Given the description of an element on the screen output the (x, y) to click on. 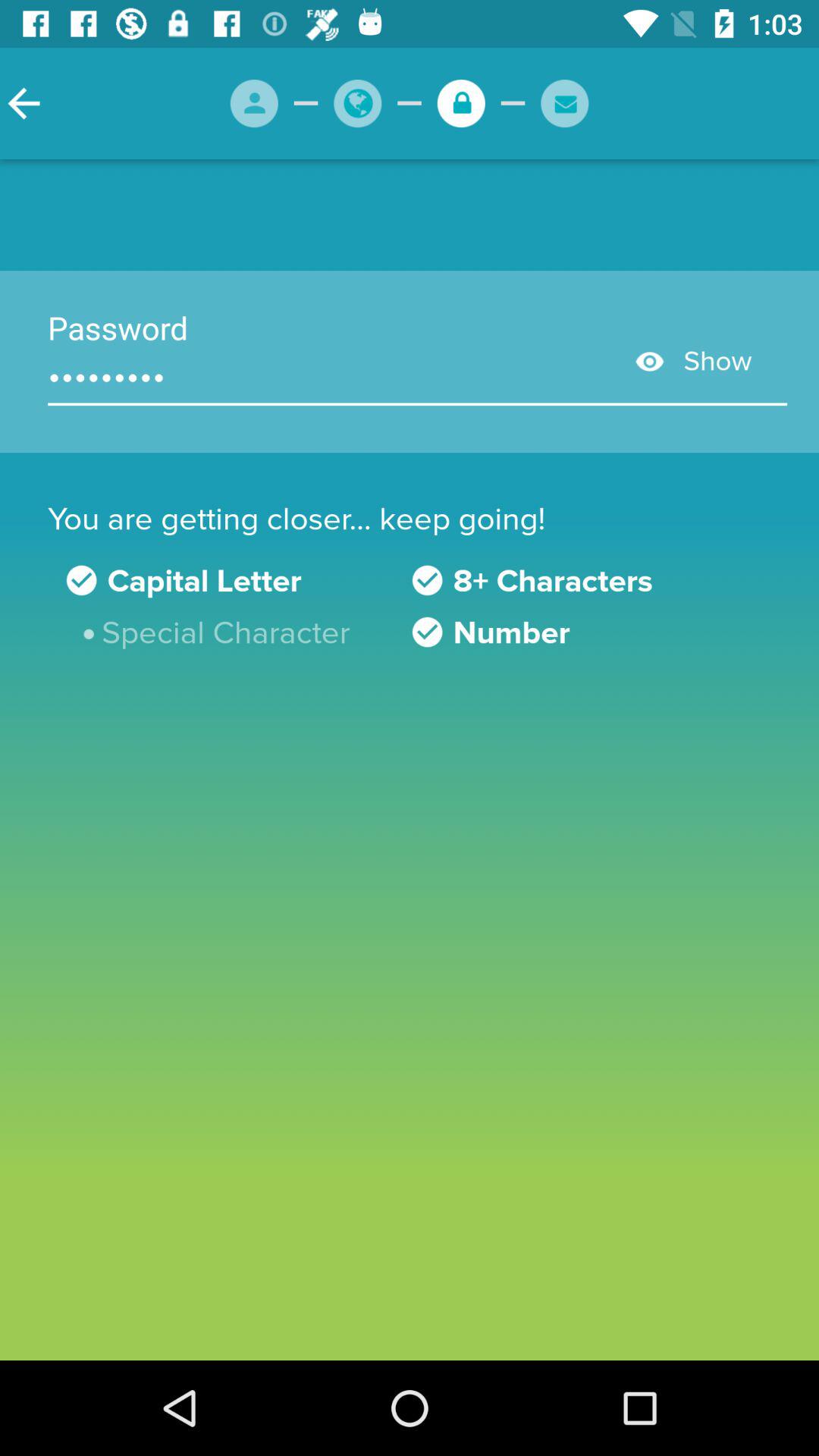
go back (23, 103)
